Given the description of an element on the screen output the (x, y) to click on. 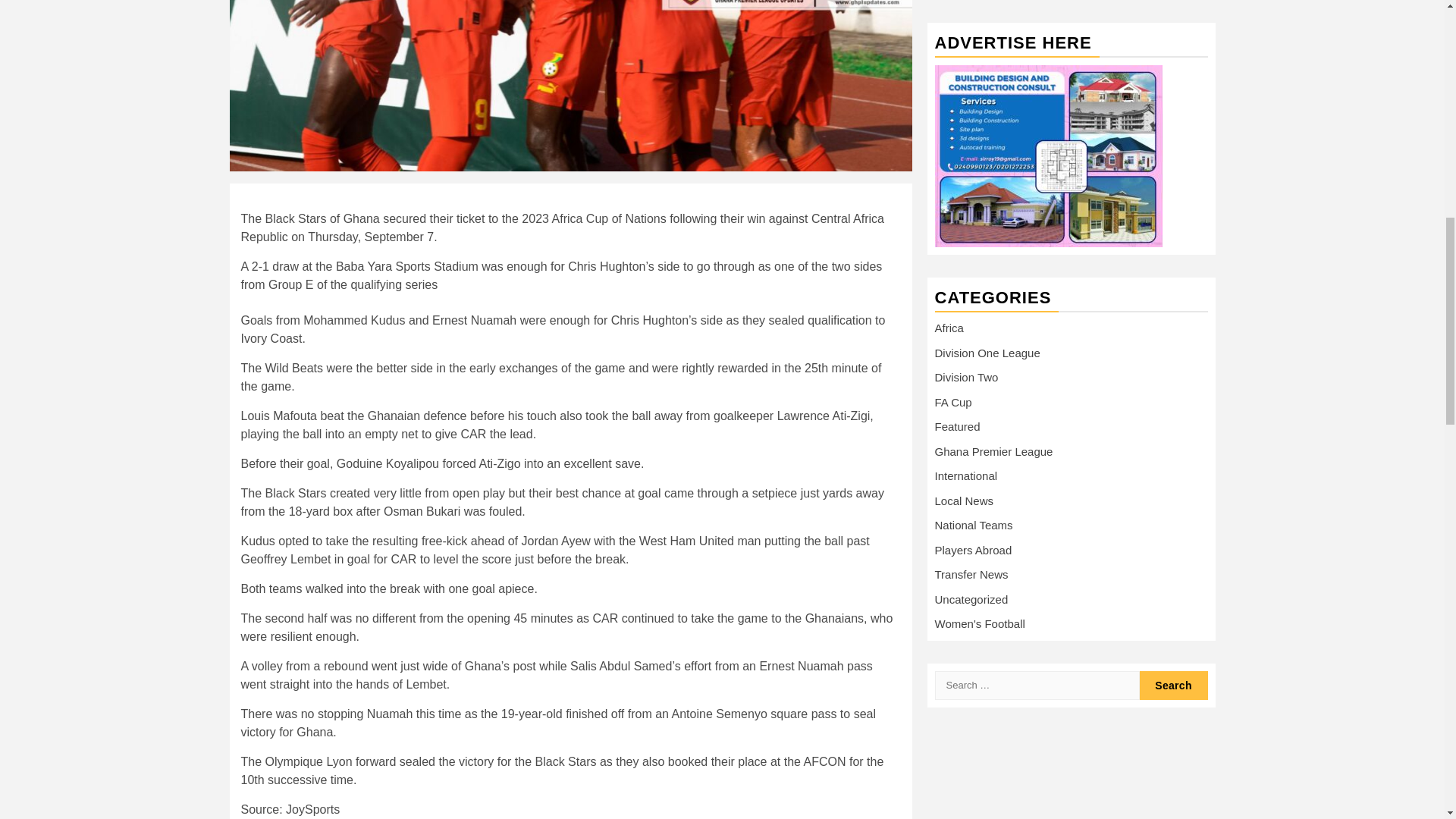
Search (1172, 176)
Search (1172, 176)
